Given the description of an element on the screen output the (x, y) to click on. 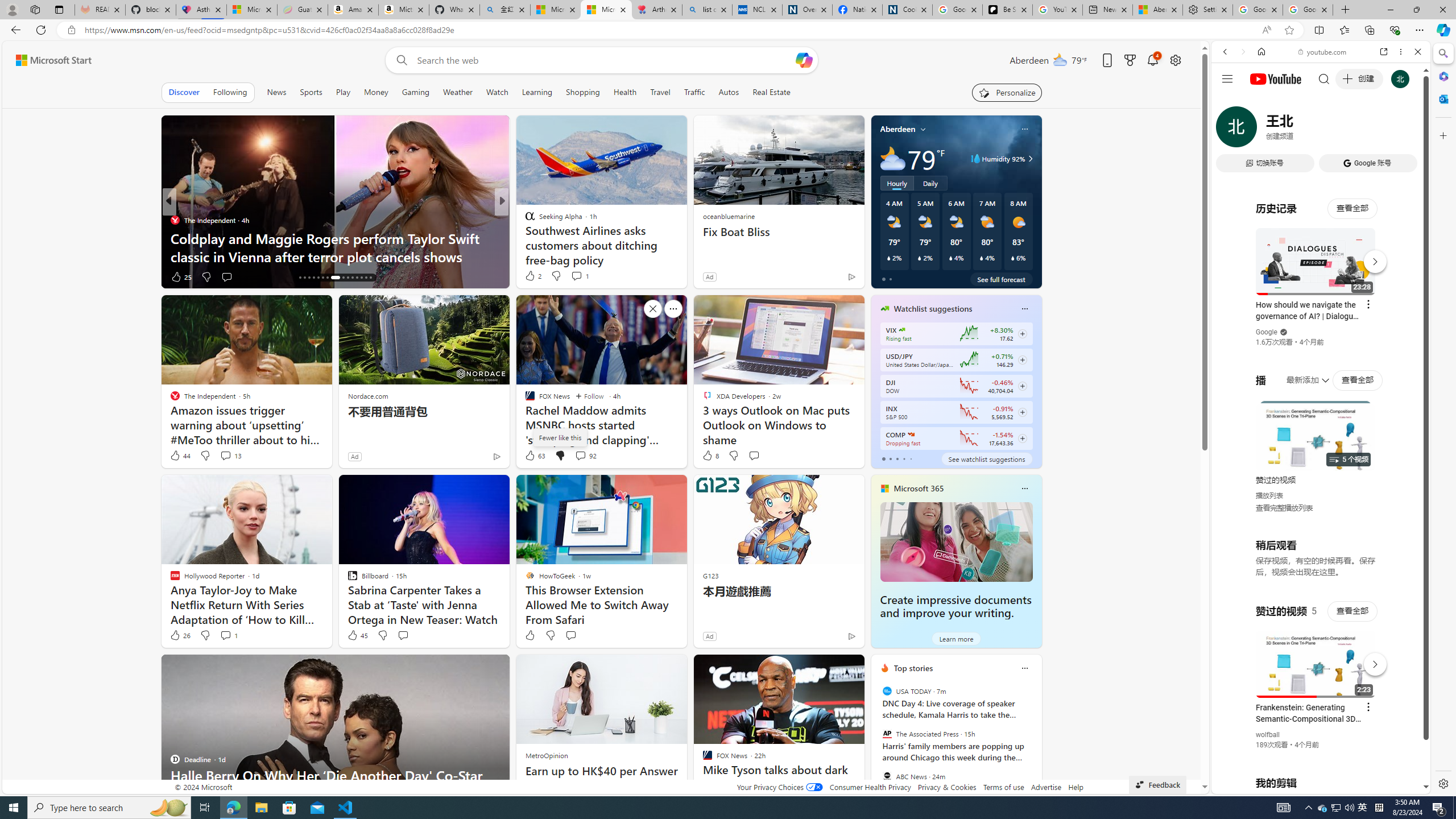
Privacy & Cookies (946, 786)
Ad Choice (851, 635)
Trailer #2 [HD] (1320, 337)
NASDAQ (910, 434)
View comments 13 Comment (225, 455)
Cookies (907, 9)
Real Estate (771, 92)
20 Like (530, 276)
View comments 1 Comment (228, 634)
youtube.com (1322, 51)
